Given the description of an element on the screen output the (x, y) to click on. 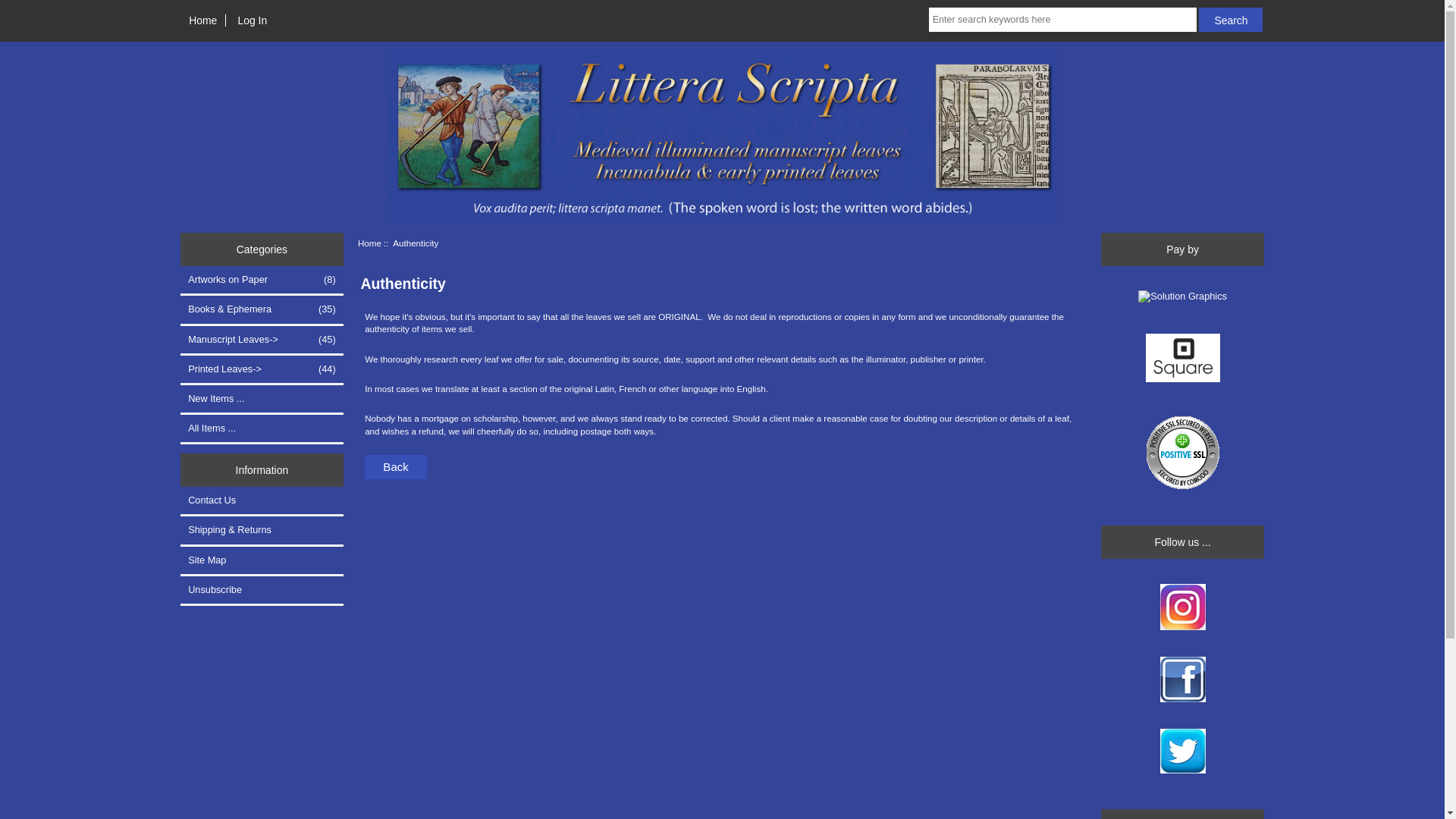
Medieval illuminated manuscript leaves Element type: hover (722, 135)
Log In Element type: text (252, 20)
Home Element type: text (369, 242)
Manuscript Leaves->
 (45) Element type: text (261, 339)
Contact Us Element type: text (261, 500)
Search Element type: text (1230, 19)
Books & Ephemera
 (35) Element type: text (261, 309)
 Back  Element type: text (395, 467)
New Items ... Element type: text (261, 398)
Unsubscribe Element type: text (261, 589)
All Items ... Element type: text (261, 428)
Printed Leaves->
 (44) Element type: text (261, 368)
Site Map Element type: text (261, 560)
Home Element type: text (202, 20)
Artworks on Paper
 (8) Element type: text (261, 279)
Shipping & Returns Element type: text (261, 529)
